Given the description of an element on the screen output the (x, y) to click on. 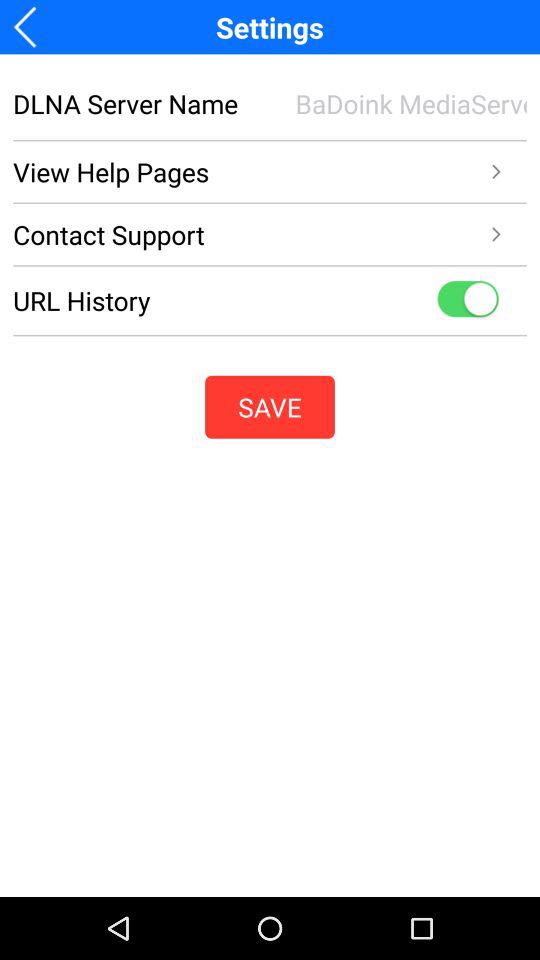
go to previous (31, 26)
